Given the description of an element on the screen output the (x, y) to click on. 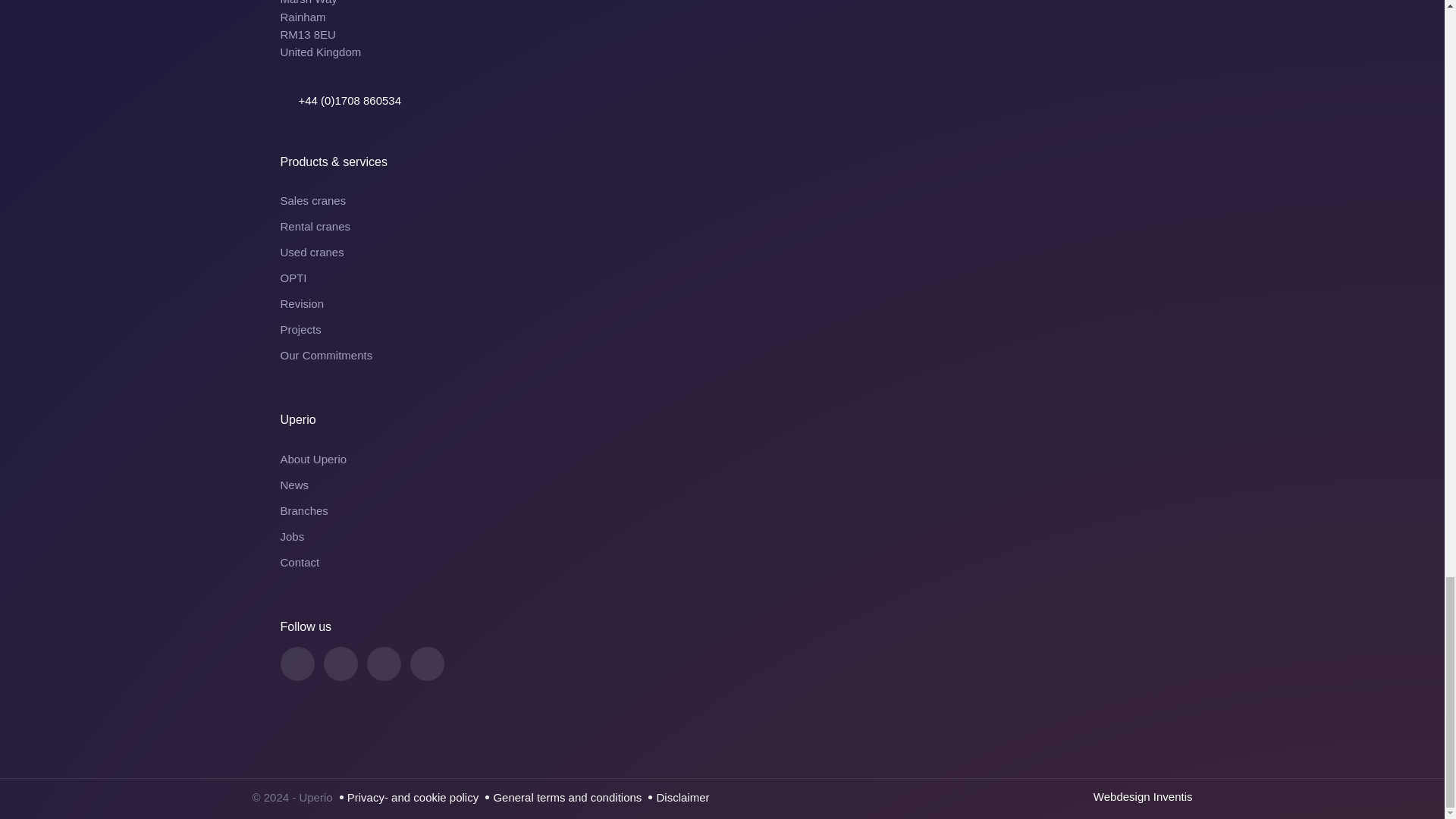
Rental cranes (722, 226)
About Uperio (722, 458)
Sales cranes (722, 200)
OPTI (722, 277)
Used cranes (722, 251)
Revision (722, 303)
Our Commitments (722, 354)
News (722, 485)
Projects (722, 329)
